Given the description of an element on the screen output the (x, y) to click on. 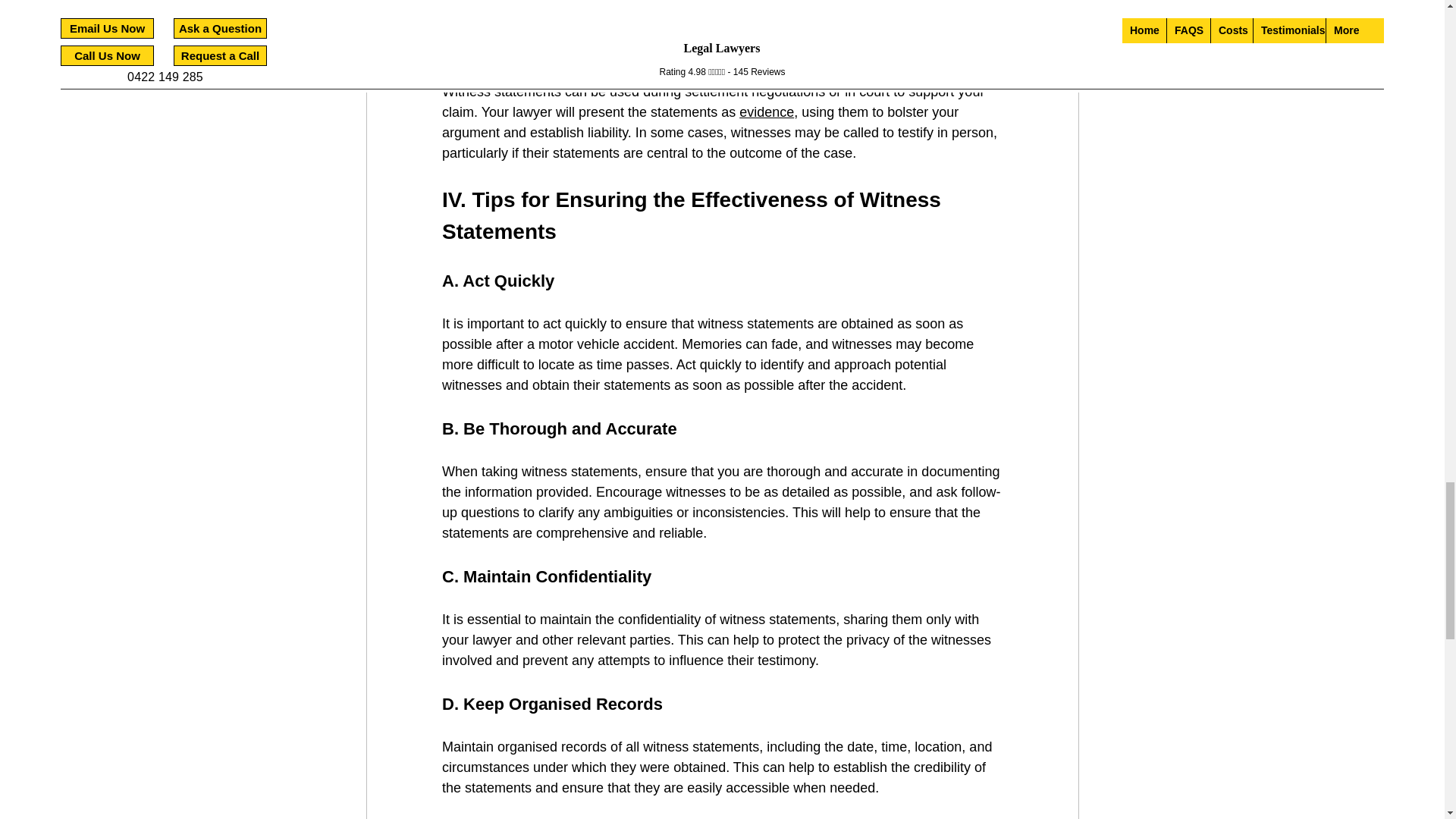
evidence (766, 111)
